Given the description of an element on the screen output the (x, y) to click on. 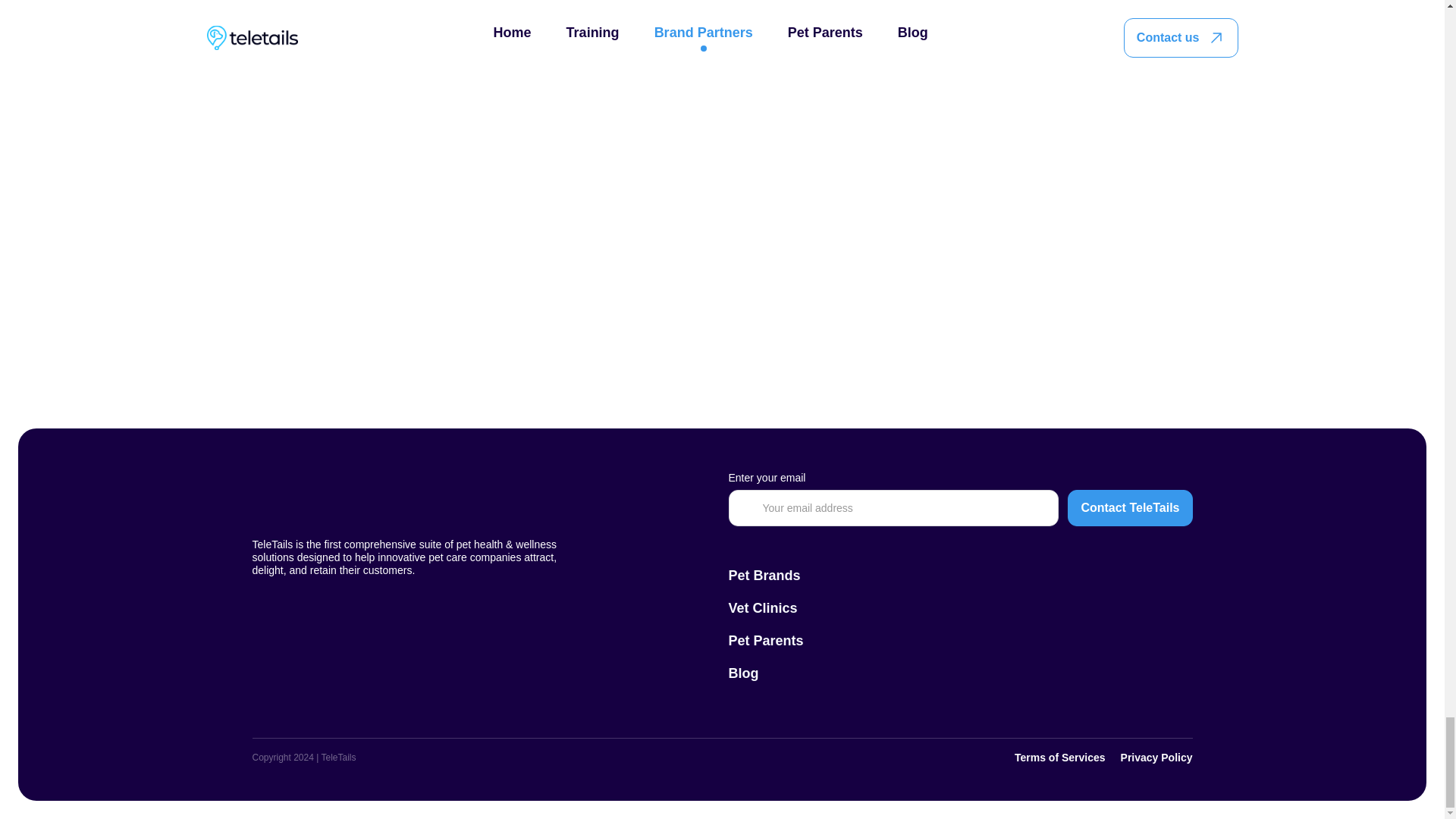
Vet Clinics (762, 608)
Blog (743, 673)
Submit (807, 302)
Terms of Services (1059, 757)
Privacy Policy (1156, 757)
Pet Brands (763, 575)
Contact TeleTails (1129, 507)
Contact TeleTails (1129, 507)
Pet Parents (765, 641)
